Given the description of an element on the screen output the (x, y) to click on. 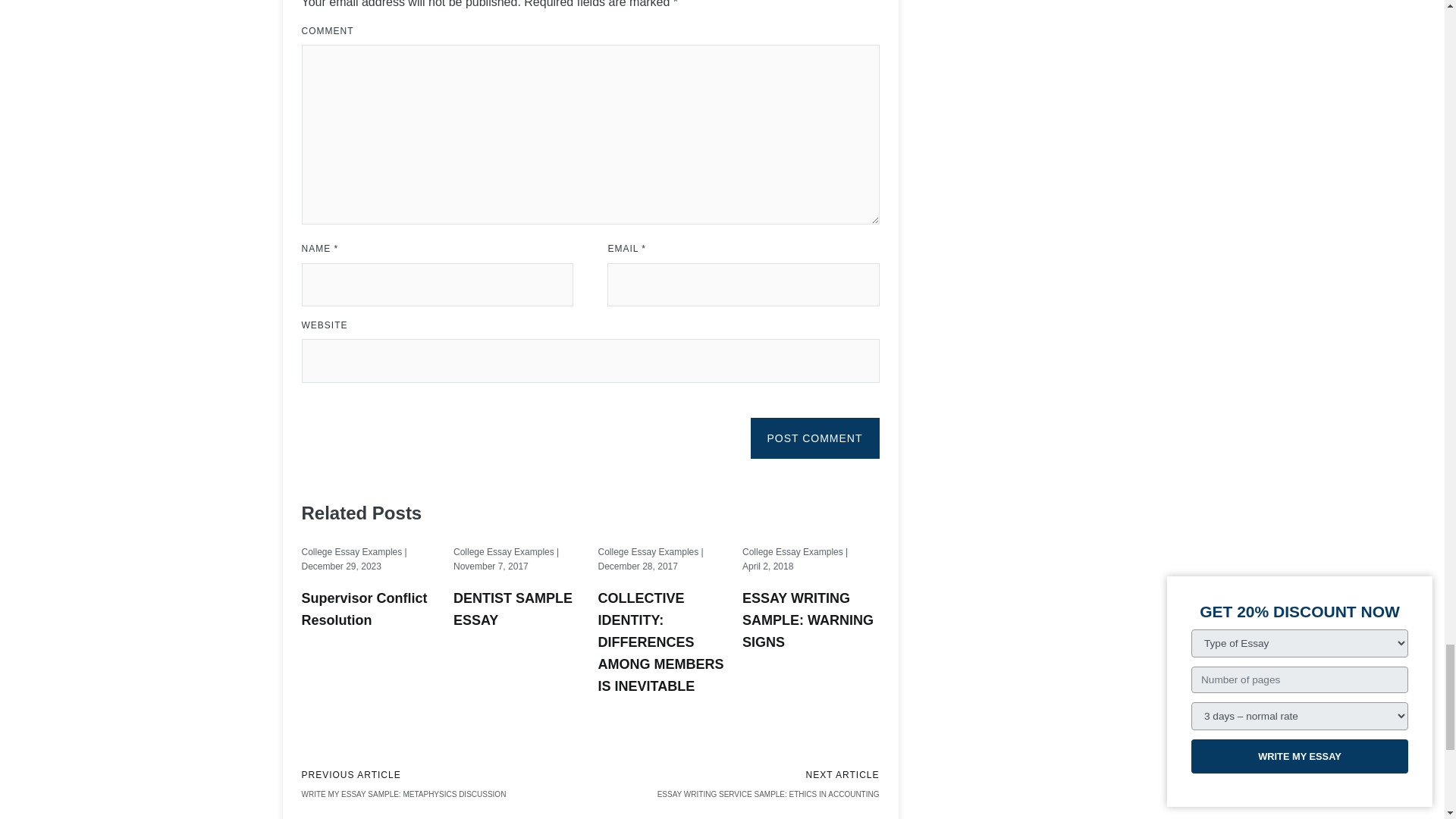
Post Comment (815, 437)
